Given the description of an element on the screen output the (x, y) to click on. 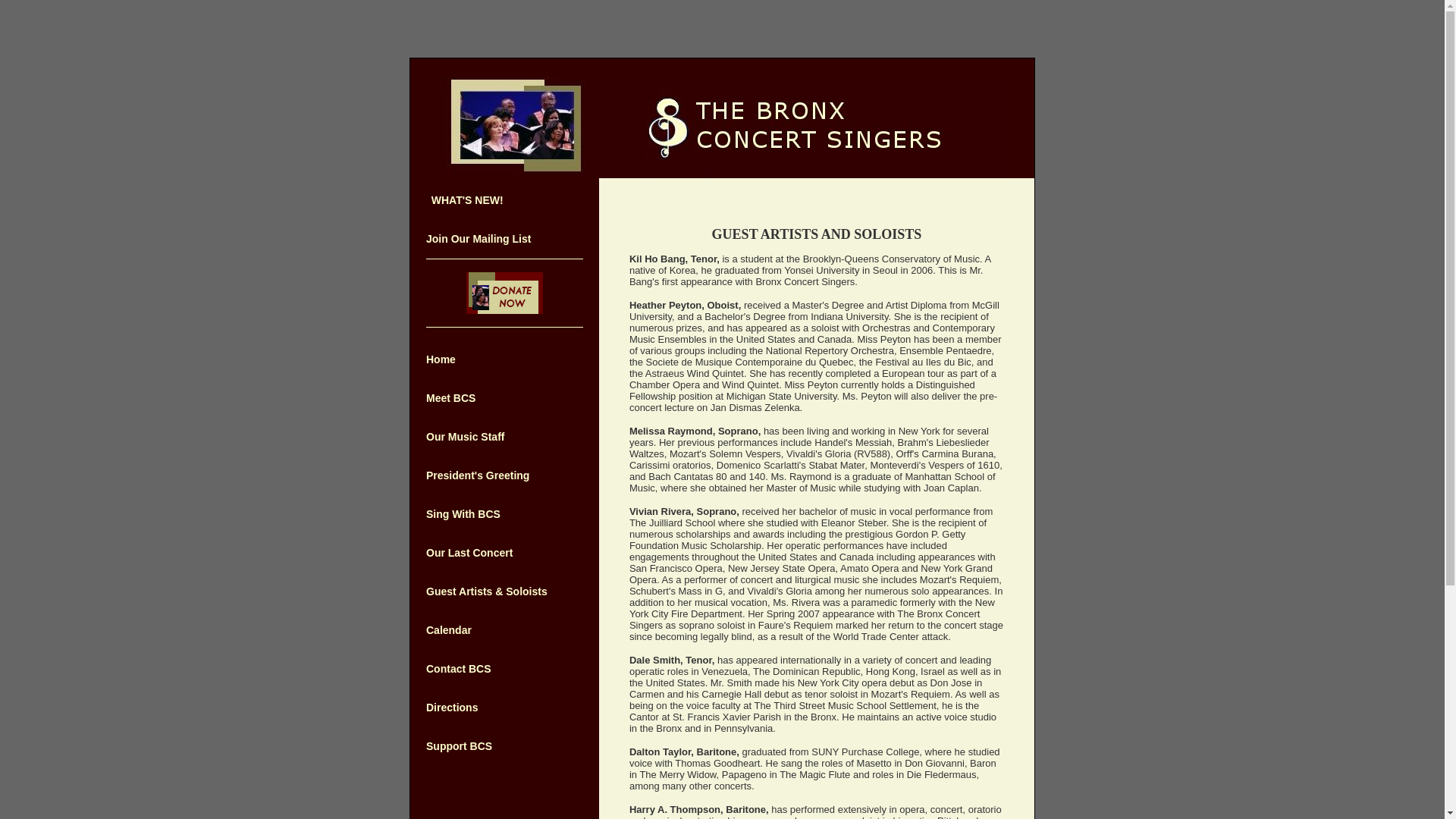
President's Greeting (477, 475)
Sing With BCS (463, 513)
WHAT'S NEW! (466, 200)
Join Our Mailing List (478, 238)
Support BCS (459, 746)
Directions (451, 707)
Meet BCS (451, 398)
Contact BCS (459, 668)
Our Music Staff (464, 436)
Home (440, 358)
